Given the description of an element on the screen output the (x, y) to click on. 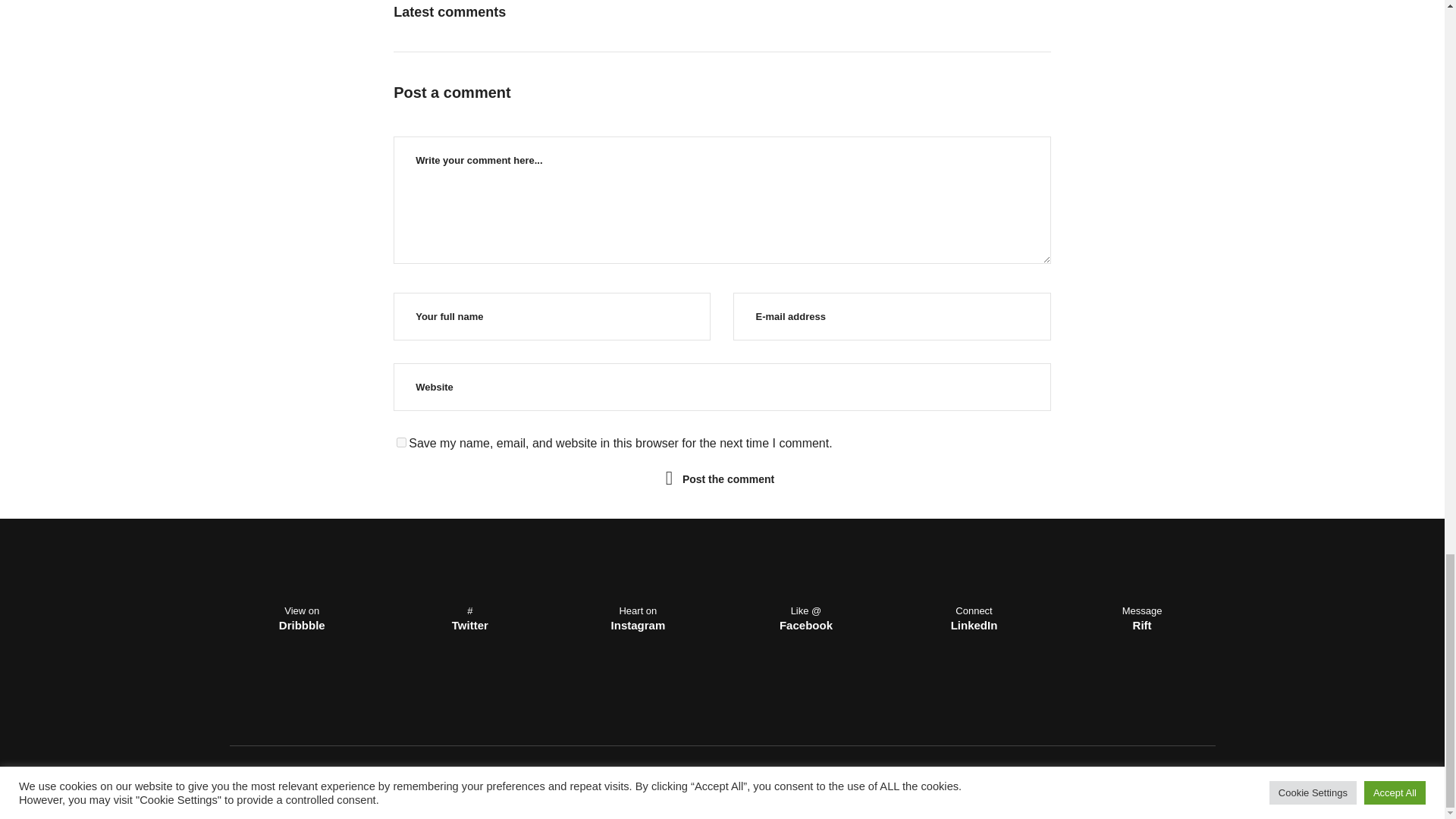
yes (401, 442)
Post the comment (728, 478)
Post the comment (728, 478)
